Given the description of an element on the screen output the (x, y) to click on. 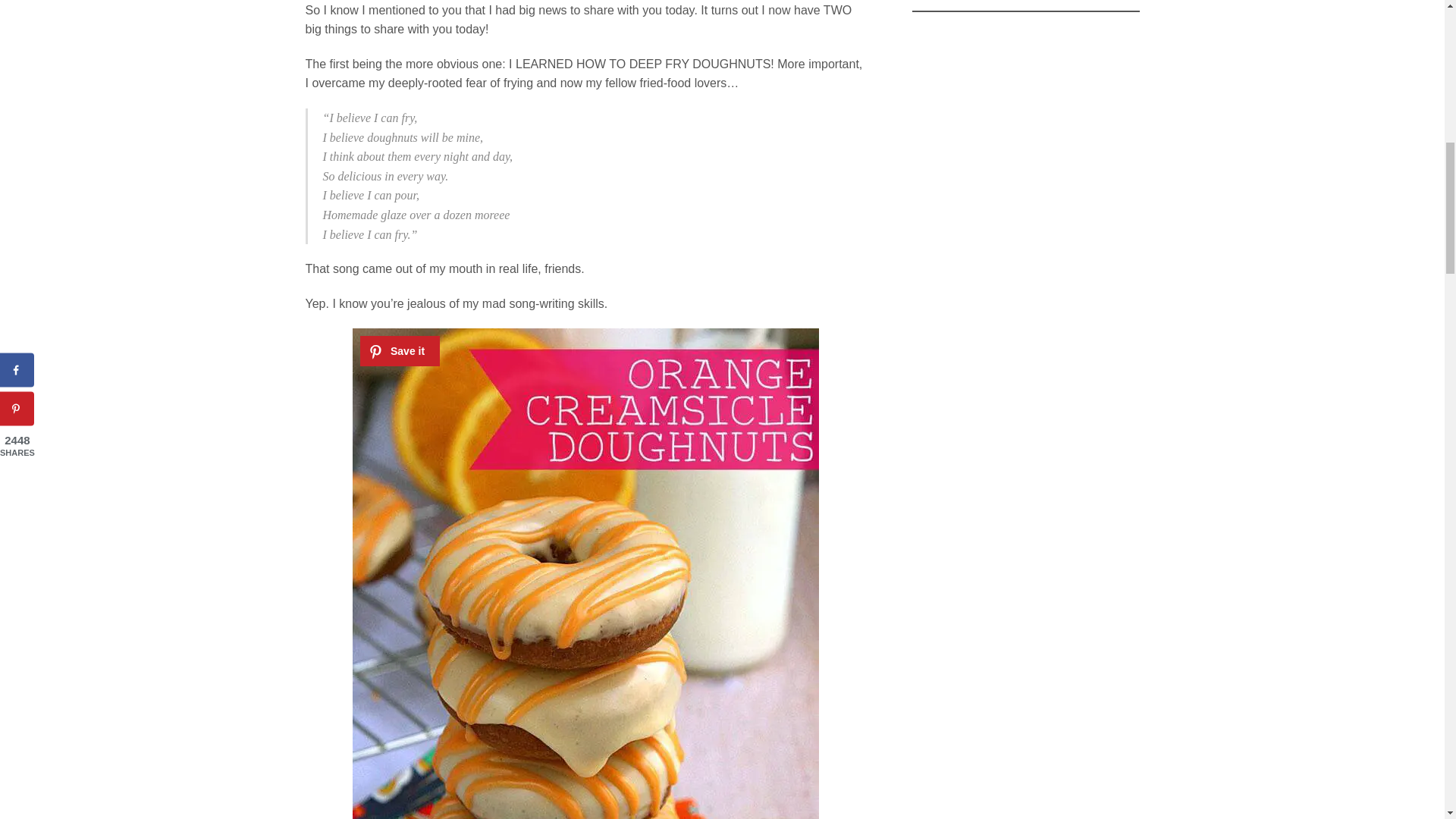
Save it (399, 350)
